Given the description of an element on the screen output the (x, y) to click on. 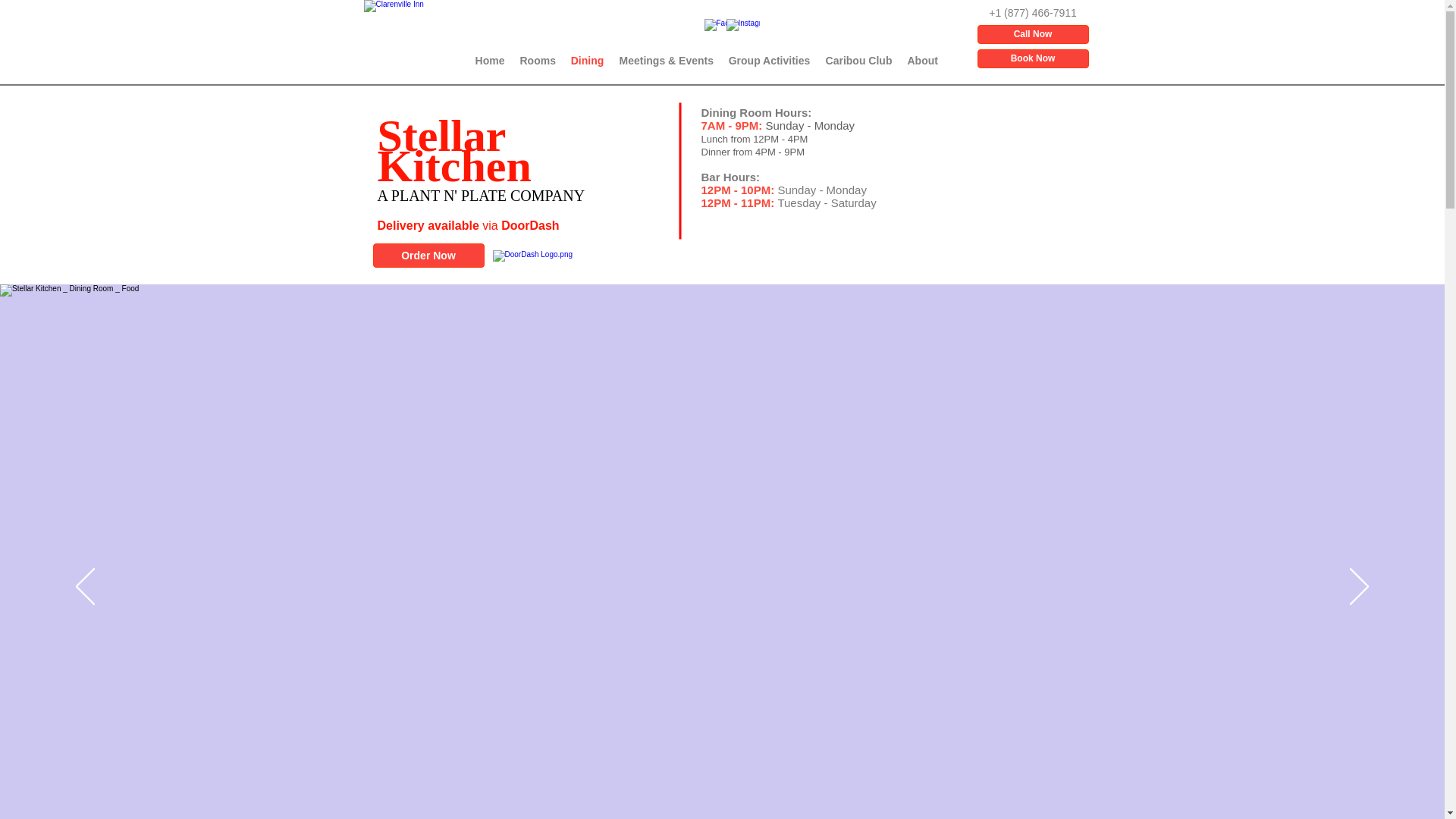
Caribou Club (857, 60)
Call Now (1031, 34)
TranspLogo-274w.png (403, 38)
Order Now (428, 255)
Book Now (1031, 58)
About (921, 60)
Rooms (537, 60)
Dining (586, 60)
Group Activities (768, 60)
Home (489, 60)
